Given the description of an element on the screen output the (x, y) to click on. 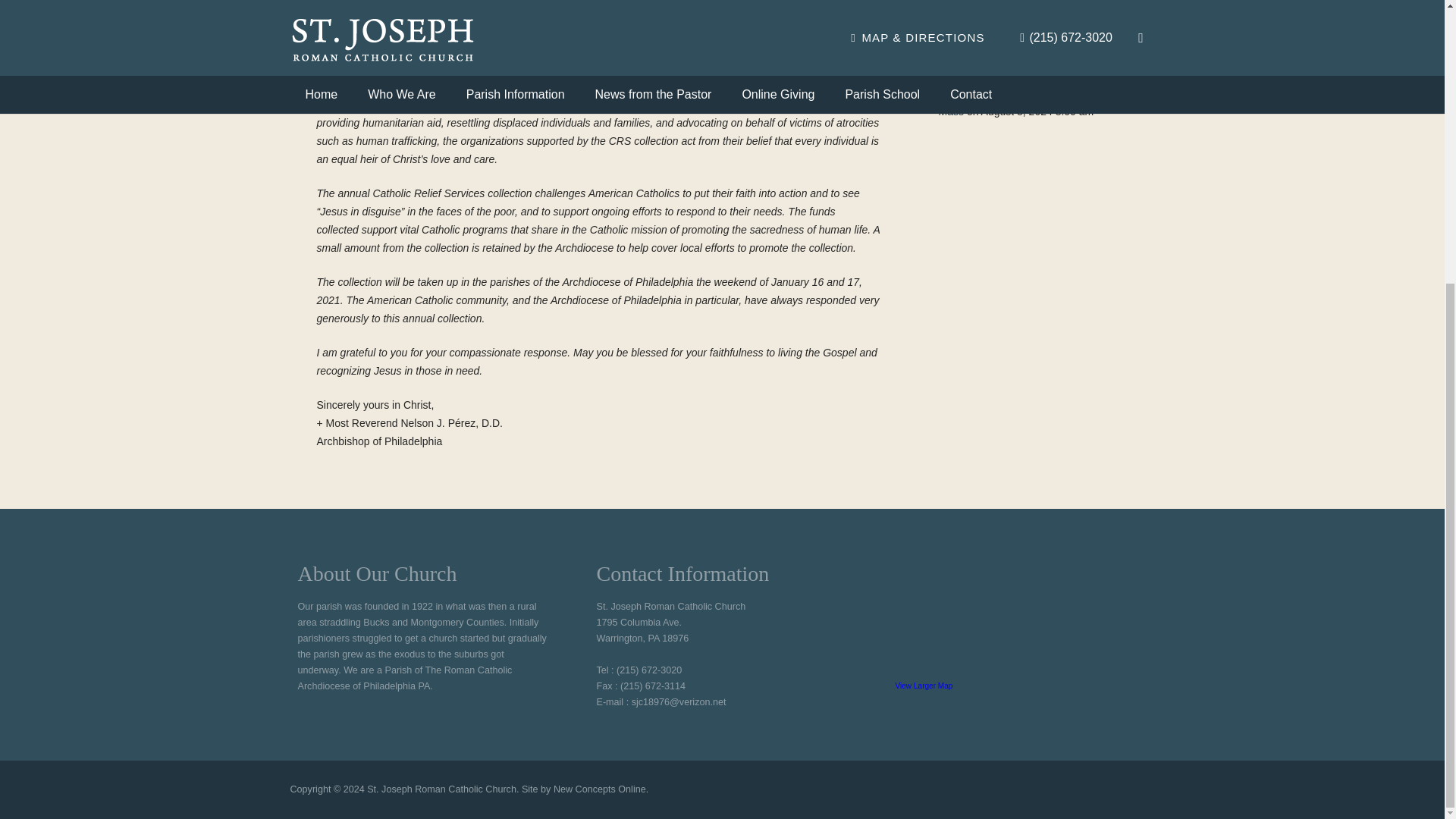
Adoration (961, 40)
Mass (951, 111)
View Larger Map (923, 685)
Mass (951, 17)
Mass (951, 87)
Mass (951, 64)
